Given the description of an element on the screen output the (x, y) to click on. 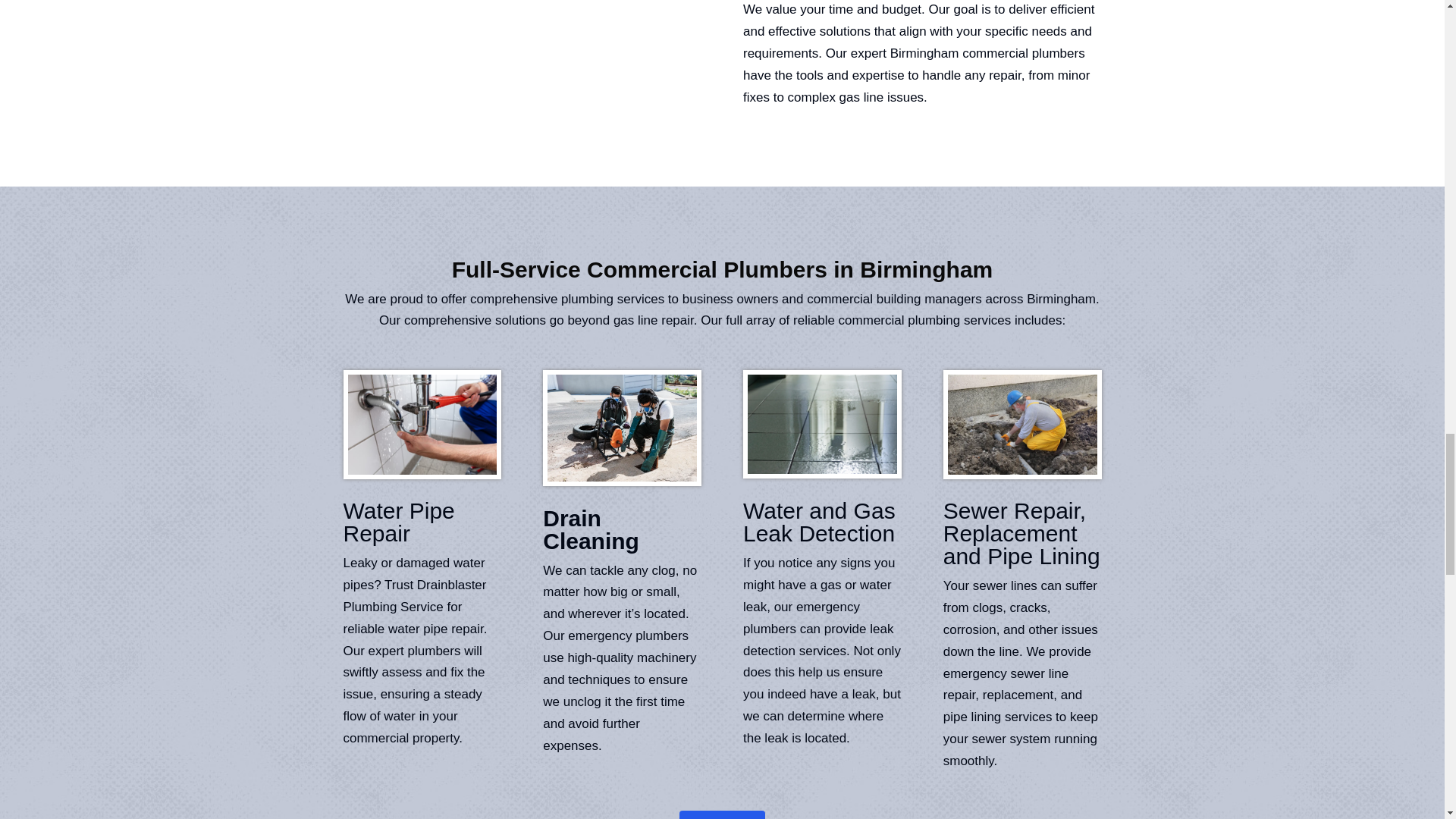
Learn More (722, 814)
commercial-sewer-repair (1022, 424)
commercial-water-pipe-repair (421, 424)
commercial-drain-cleaning (622, 427)
water-leak-detection (822, 424)
